Given the description of an element on the screen output the (x, y) to click on. 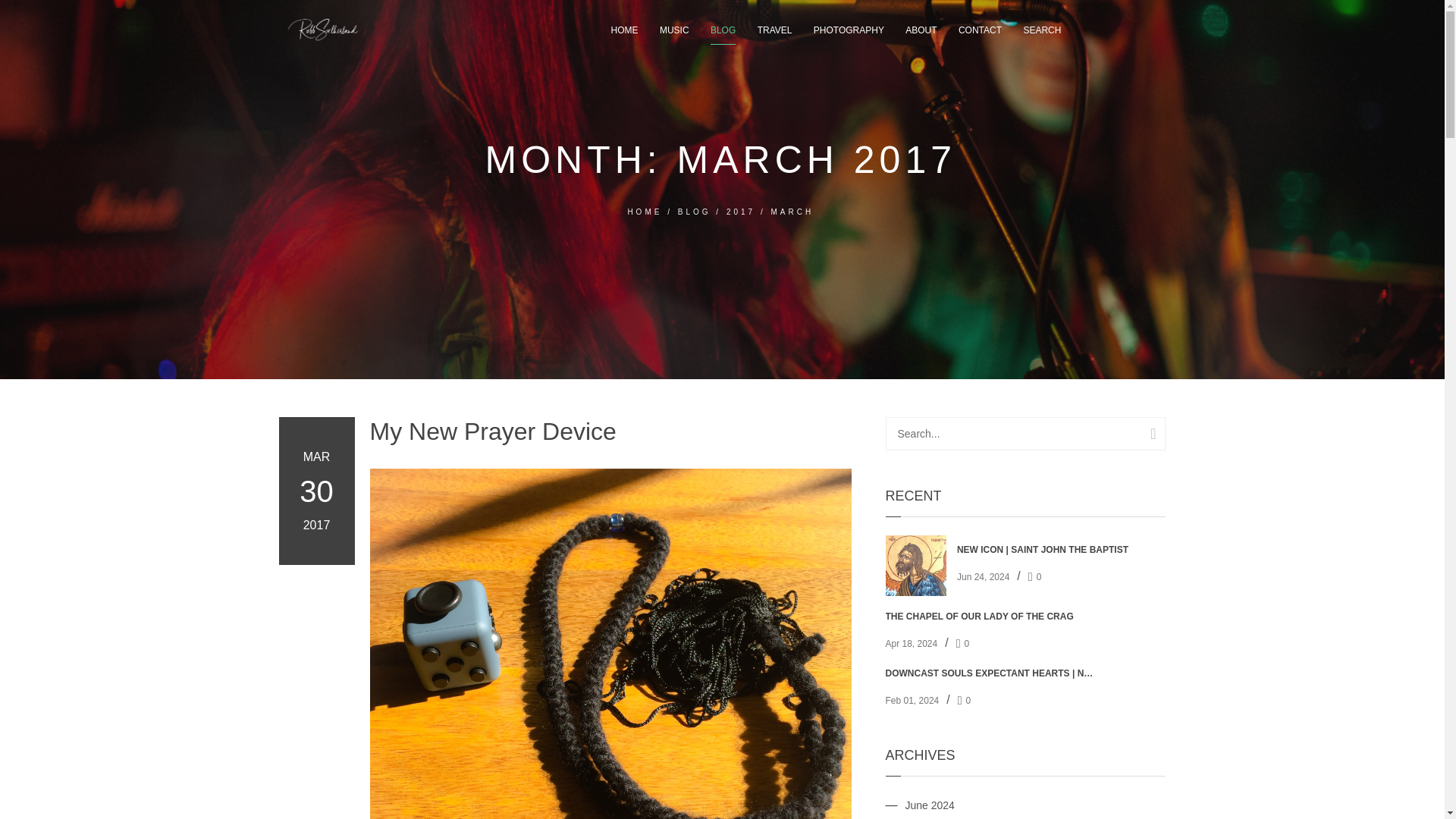
CONTACT (979, 30)
June 2024 (930, 805)
2017 (740, 212)
0 (1039, 576)
HOME (625, 30)
PHOTOGRAPHY (848, 30)
THE CHAPEL OF OUR LADY OF THE CRAG (989, 615)
BLOG (722, 30)
SEARCH (1042, 30)
0 (966, 643)
BLOG (694, 212)
0 (968, 700)
My New Prayer Device  (610, 430)
MUSIC (673, 30)
HOME (644, 212)
